Given the description of an element on the screen output the (x, y) to click on. 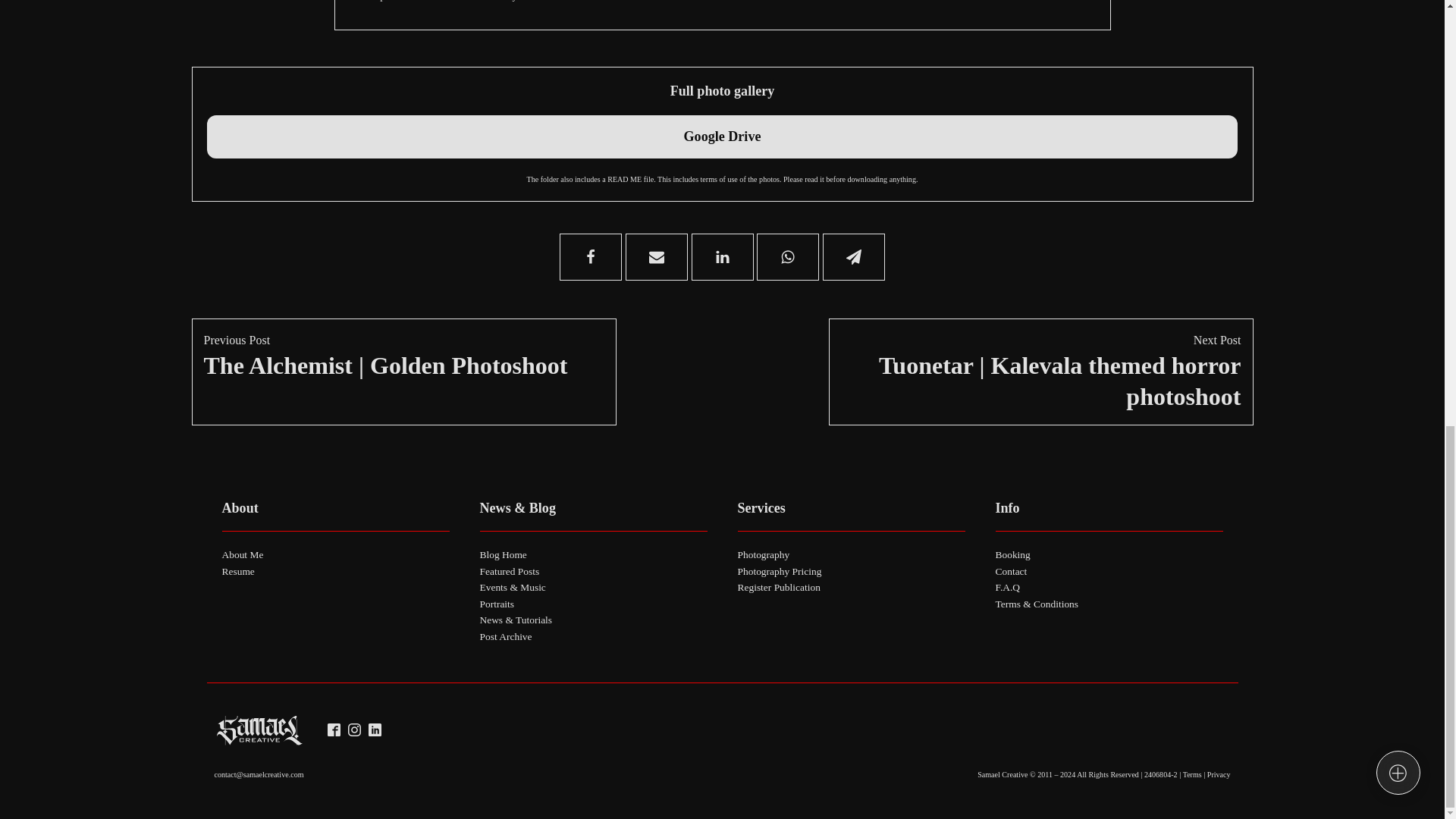
Google Drive (721, 136)
